Given the description of an element on the screen output the (x, y) to click on. 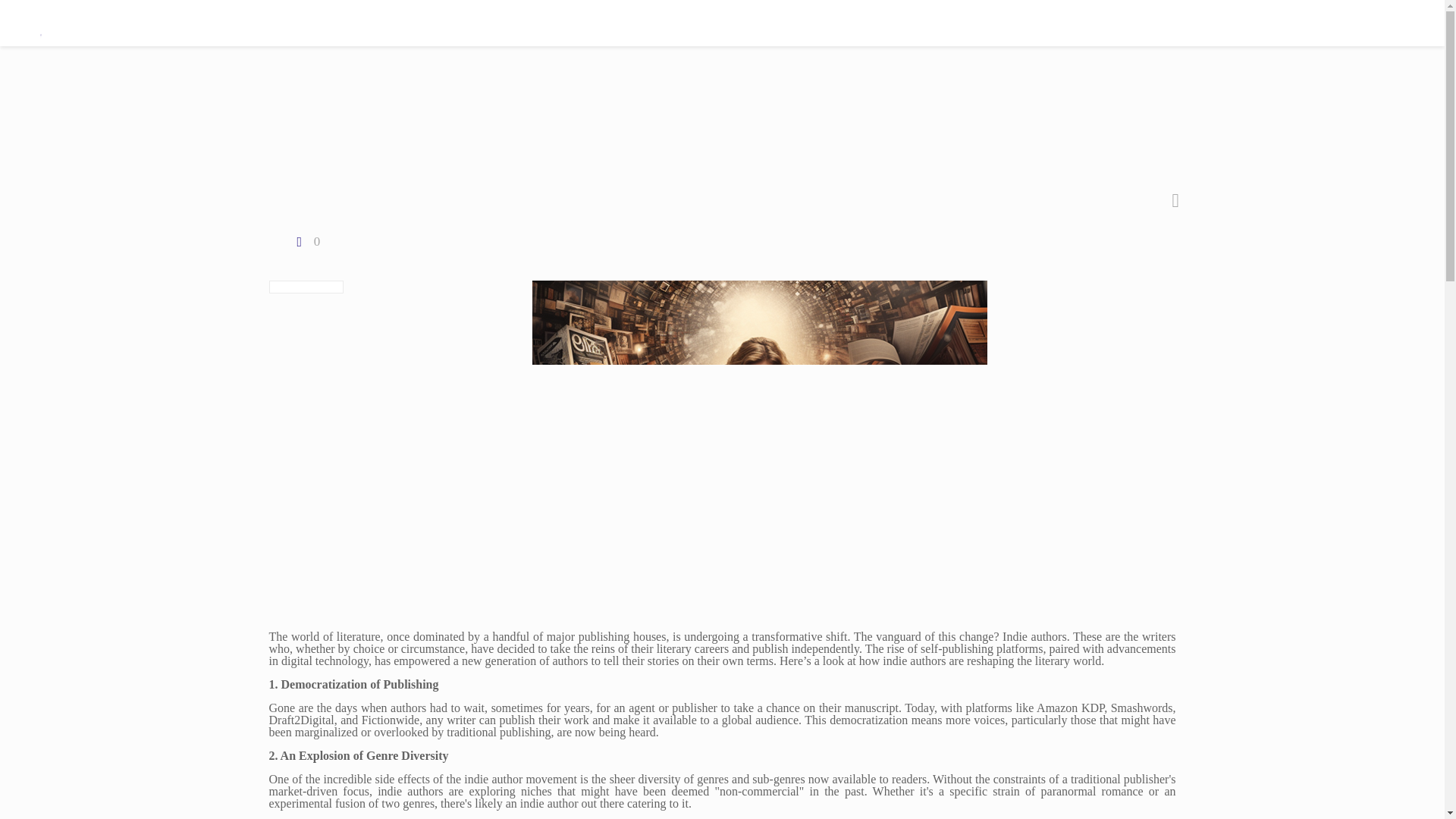
Fictionwide (149, 22)
Home (1002, 22)
Blog (1290, 22)
0 (306, 241)
How it Works (1155, 22)
Services (1069, 22)
About (1233, 22)
